Given the description of an element on the screen output the (x, y) to click on. 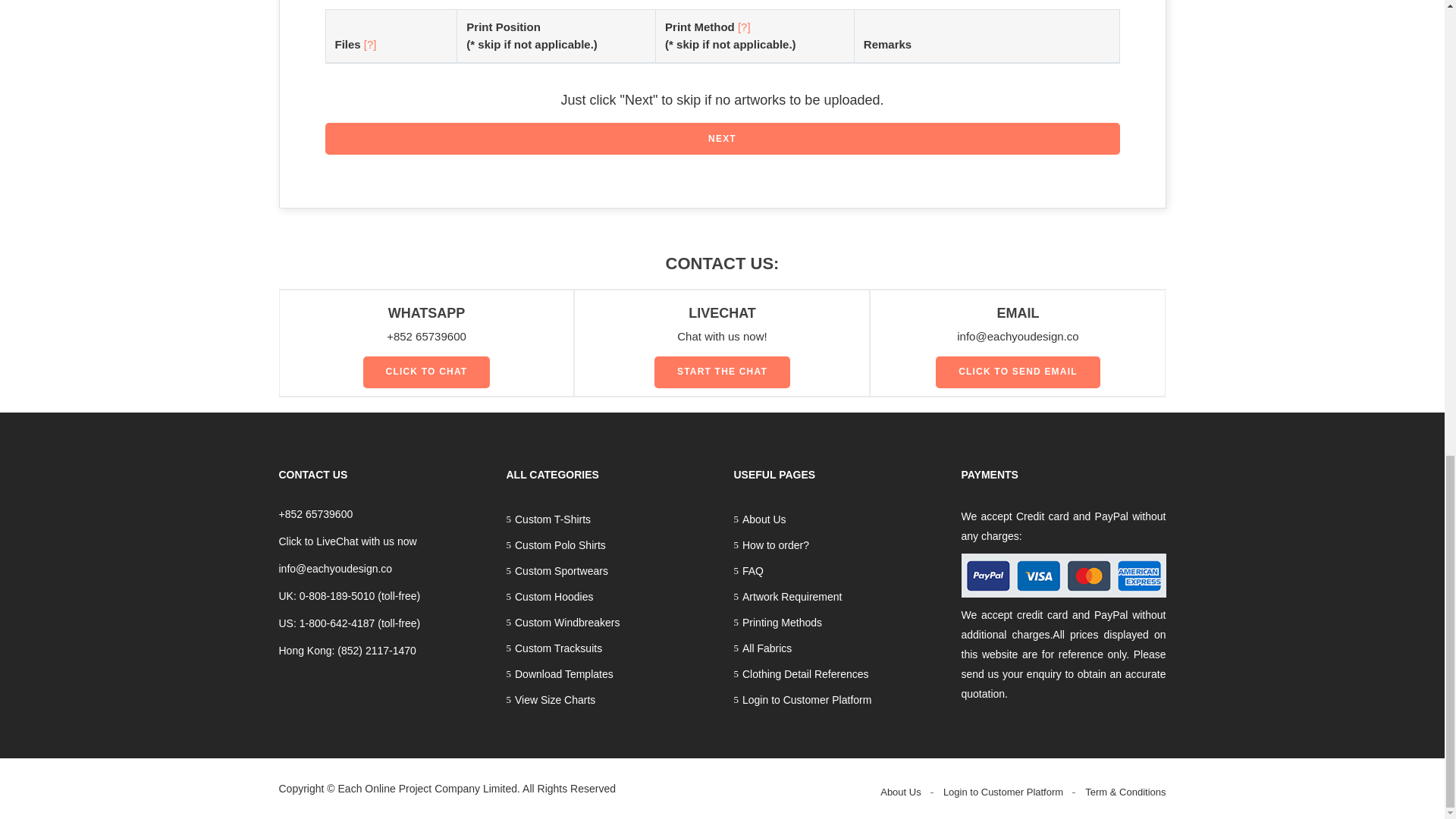
Download Templates (608, 673)
Custom T-Shirts (608, 519)
Custom Polo Shirts (608, 544)
Custom Tracksuits (608, 647)
Custom Windbreakers (608, 622)
START THE CHAT (721, 372)
CLICK TO SEND EMAIL (1018, 372)
Next (721, 138)
Next (721, 138)
Custom Sportwears (608, 570)
